Given the description of an element on the screen output the (x, y) to click on. 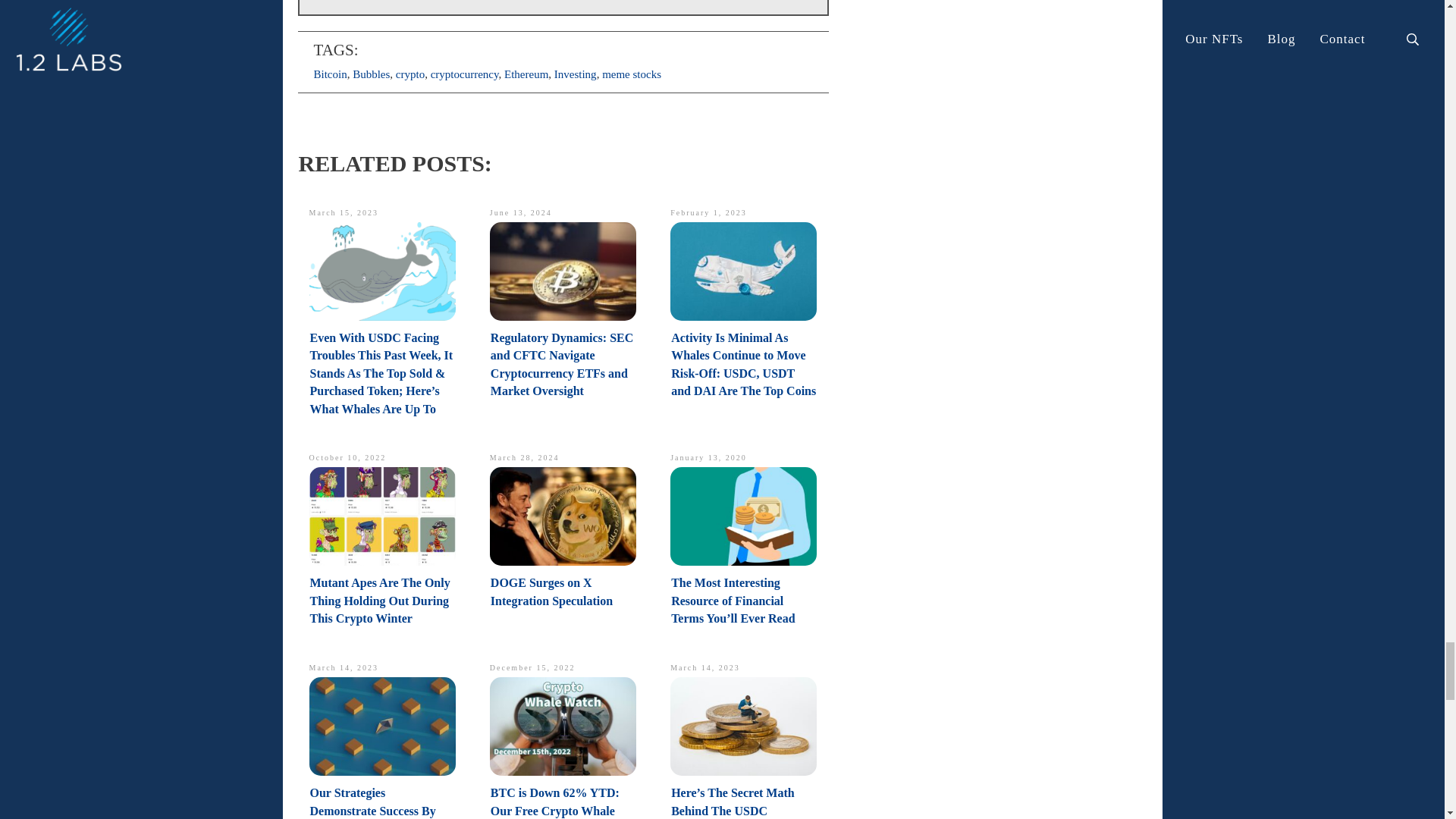
Investing (575, 73)
cryptocurrency (464, 73)
Ethereum (525, 73)
Bitcoin (330, 73)
Bubbles (371, 73)
meme stocks (631, 73)
crypto (410, 73)
